Given the description of an element on the screen output the (x, y) to click on. 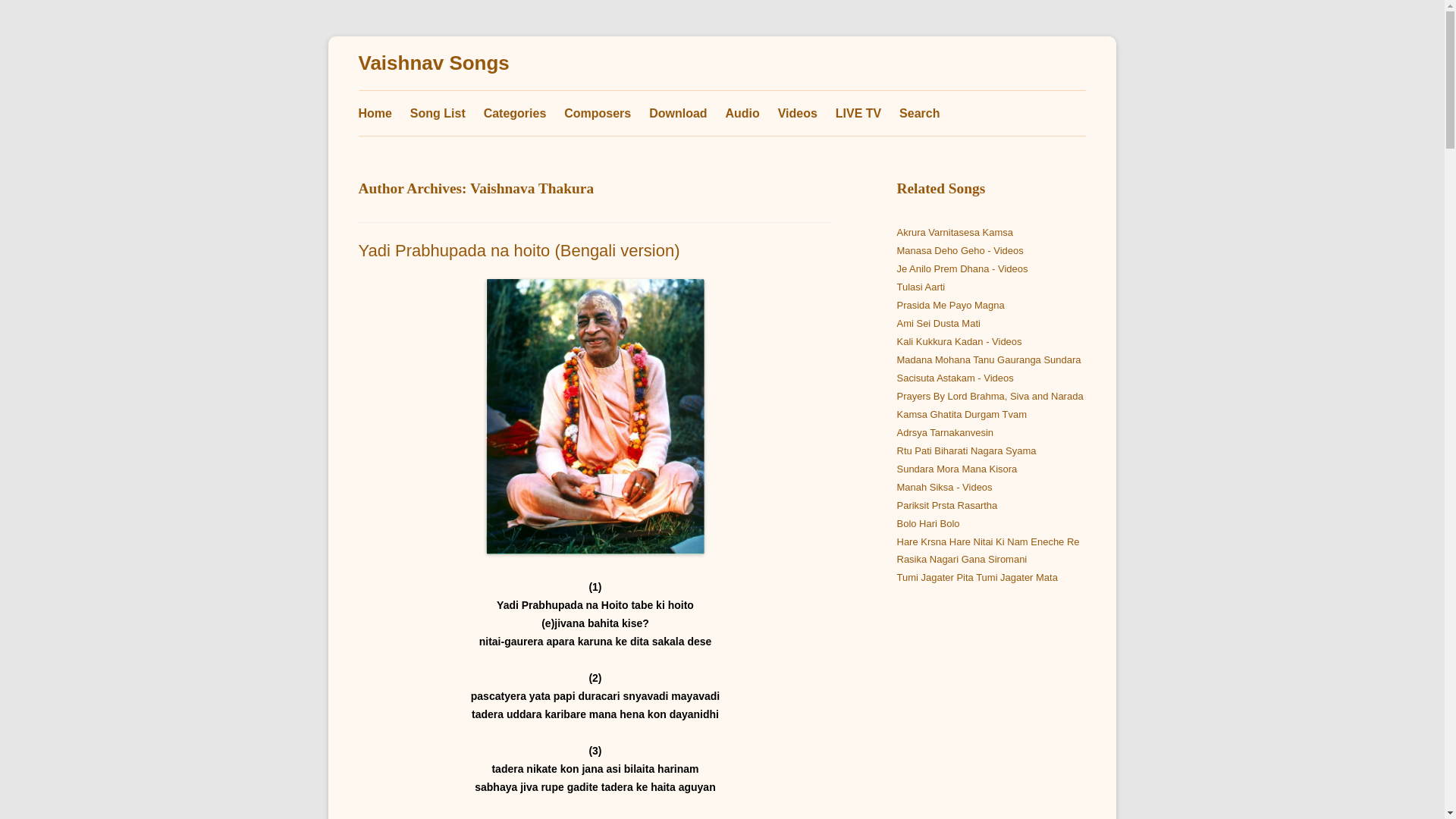
Vaishnava Thakura (532, 188)
Search (919, 112)
Vaishnava Thakura (532, 188)
Categories (515, 112)
Download (677, 112)
Composers (597, 112)
Vaishnav Songs (433, 63)
Download (677, 112)
Composers (597, 112)
Vaishnav Songs (433, 63)
Song List (437, 112)
Vaishnav songs by categories (515, 112)
LIVE TV (857, 112)
